Given the description of an element on the screen output the (x, y) to click on. 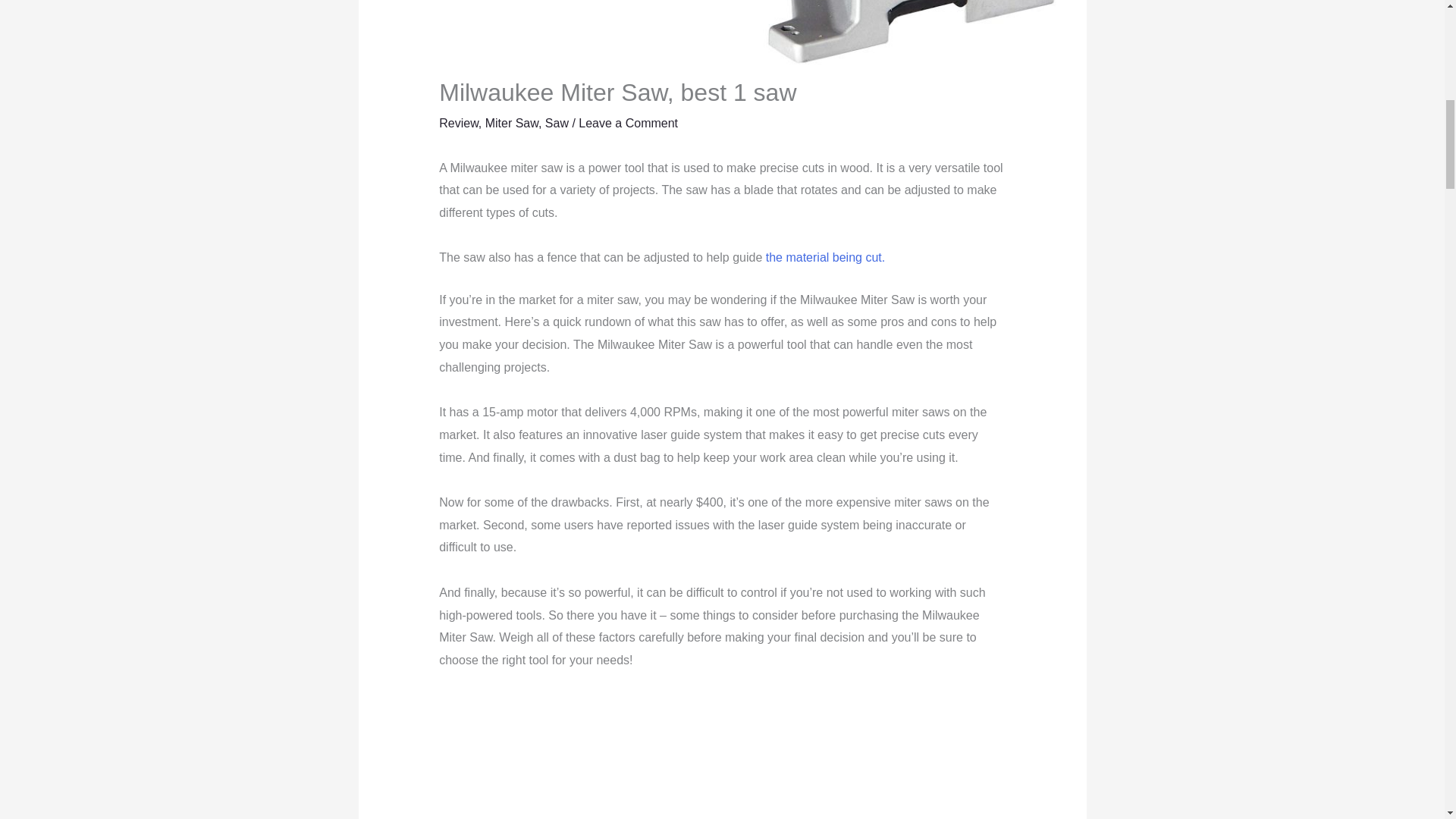
Leave a Comment (628, 123)
the material being cut. (823, 256)
Saw (556, 123)
Miter Saw (511, 123)
Review (459, 123)
